Given the description of an element on the screen output the (x, y) to click on. 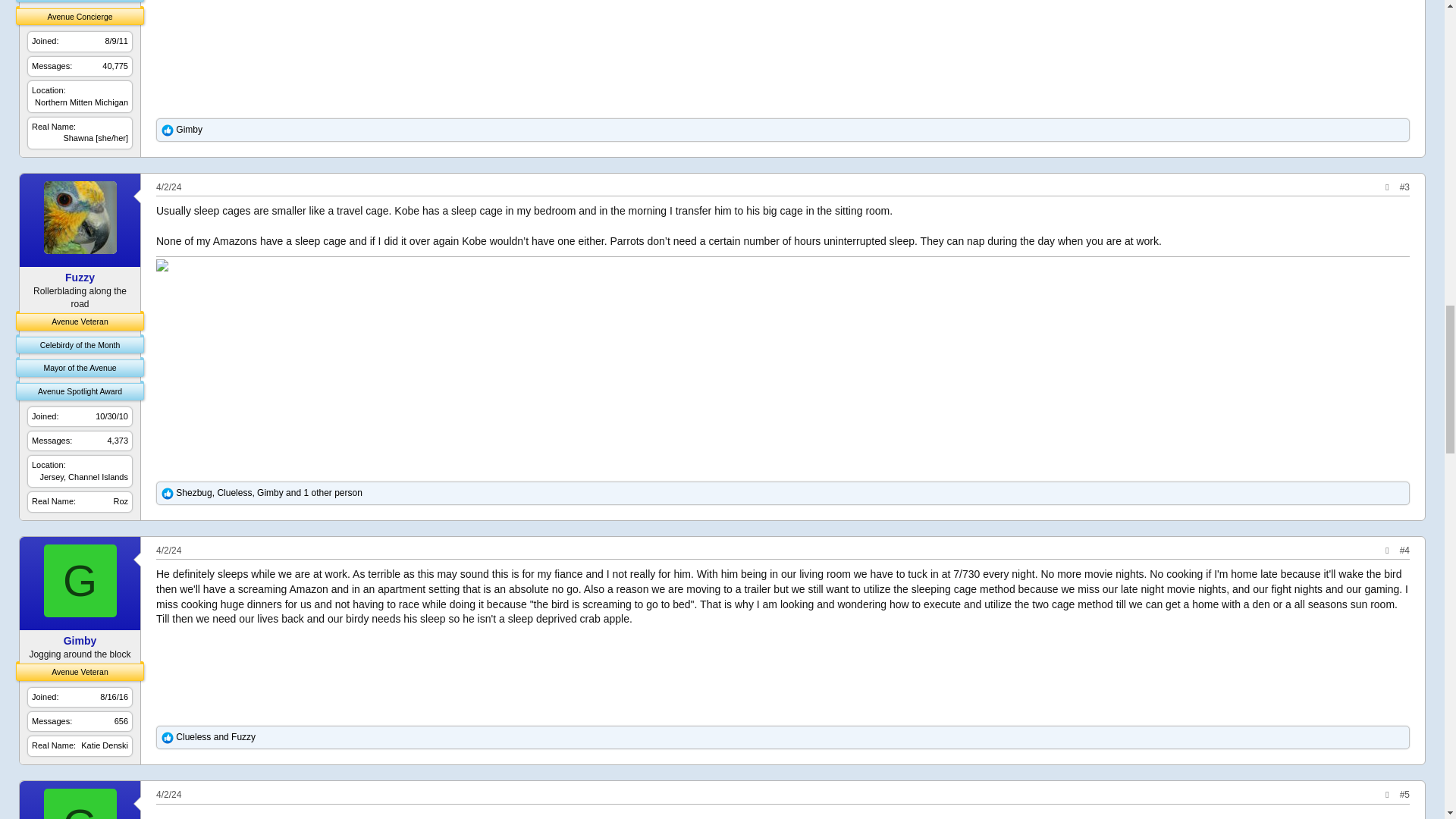
Northern Mitten Michigan (81, 102)
Like (167, 130)
